Given the description of an element on the screen output the (x, y) to click on. 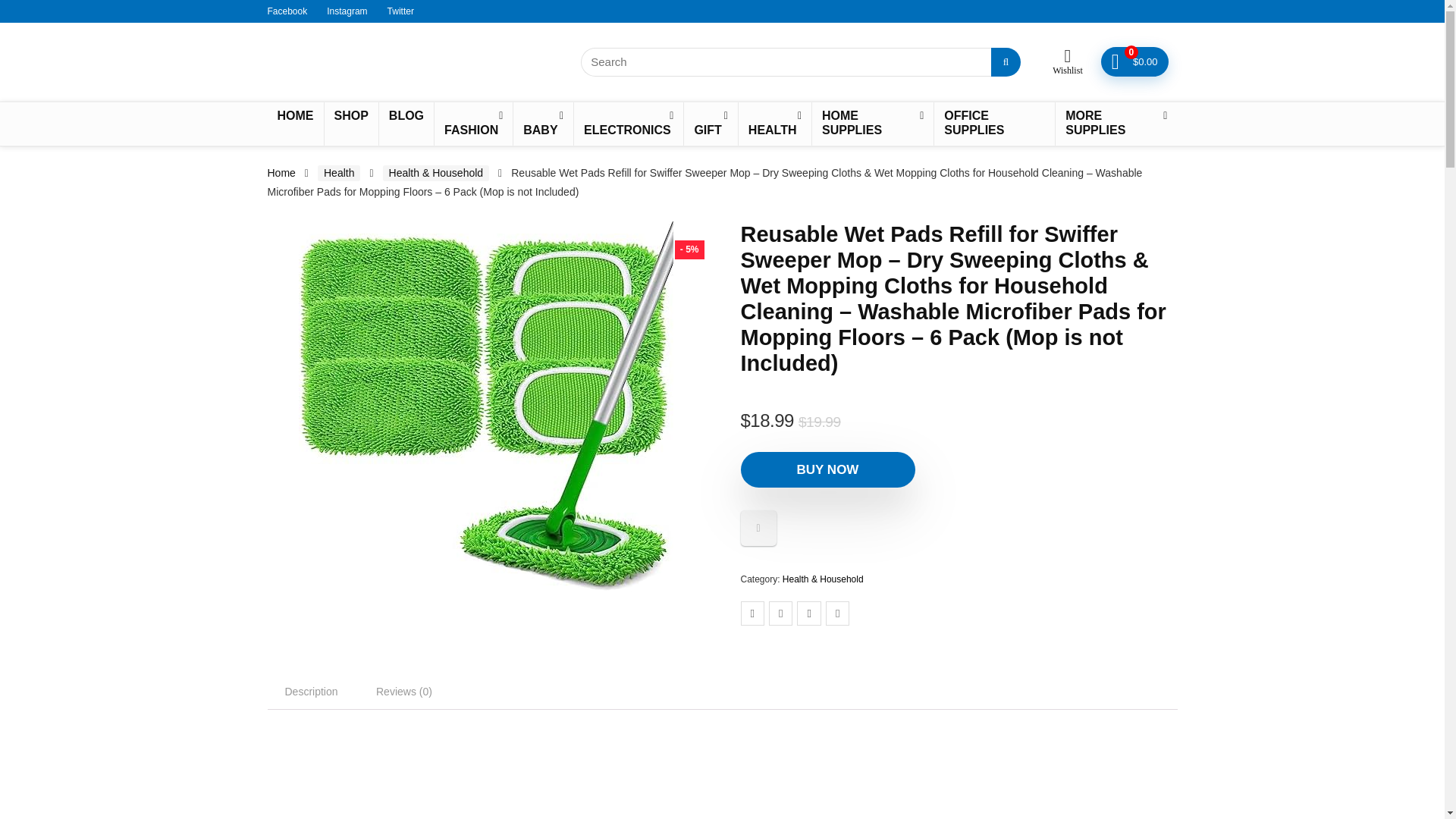
Instagram (346, 10)
GIFT (710, 123)
BABY (543, 123)
BLOG (405, 116)
Facebook (286, 10)
HOME (294, 116)
Twitter (400, 10)
FASHION (472, 123)
SHOP (351, 116)
ELECTRONICS (627, 123)
